Given the description of an element on the screen output the (x, y) to click on. 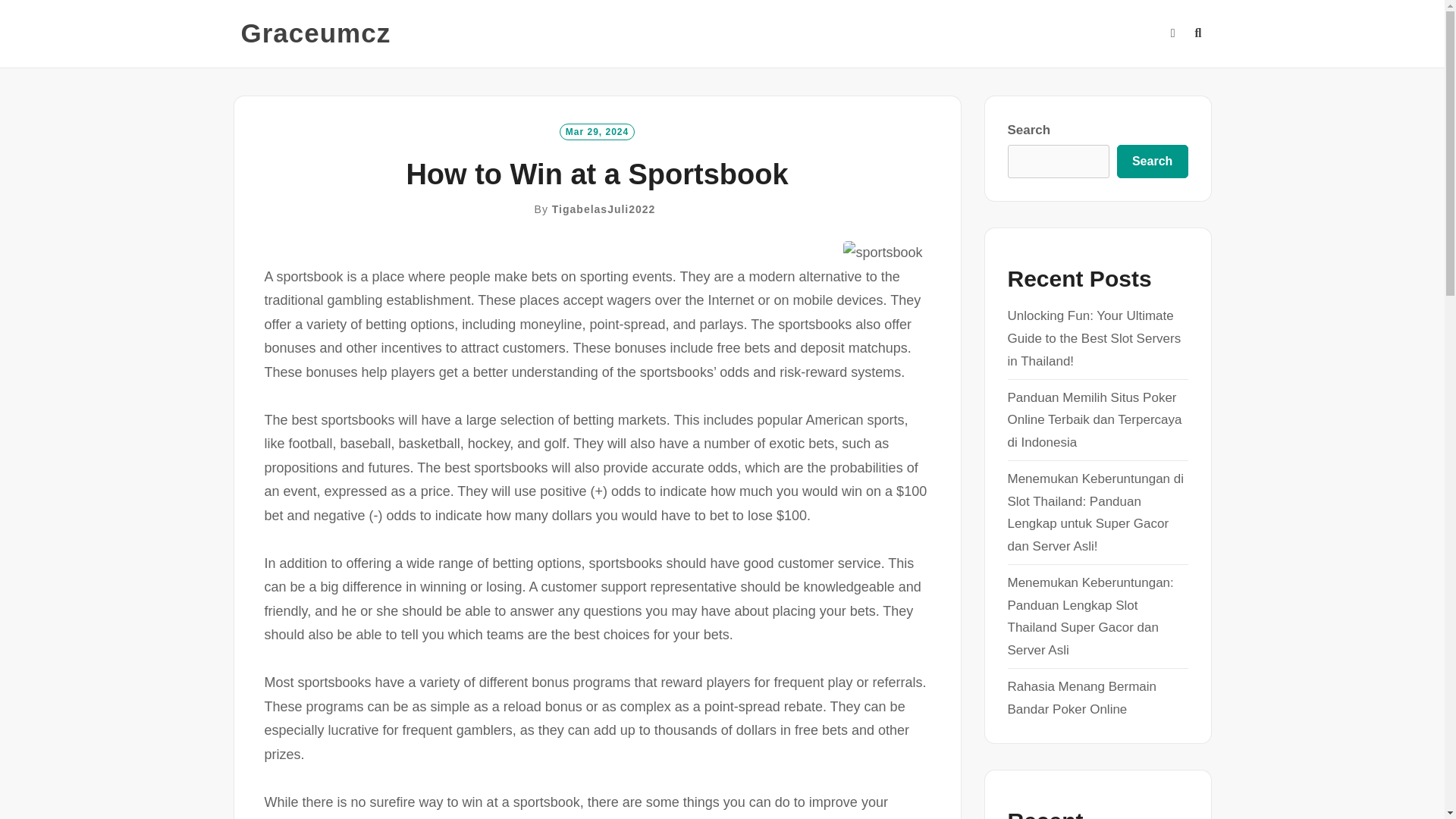
TigabelasJuli2022 (603, 209)
Mar 29, 2024 (596, 130)
Search (1152, 161)
Graceumcz (316, 33)
Rahasia Menang Bermain Bandar Poker Online (1081, 697)
